Given the description of an element on the screen output the (x, y) to click on. 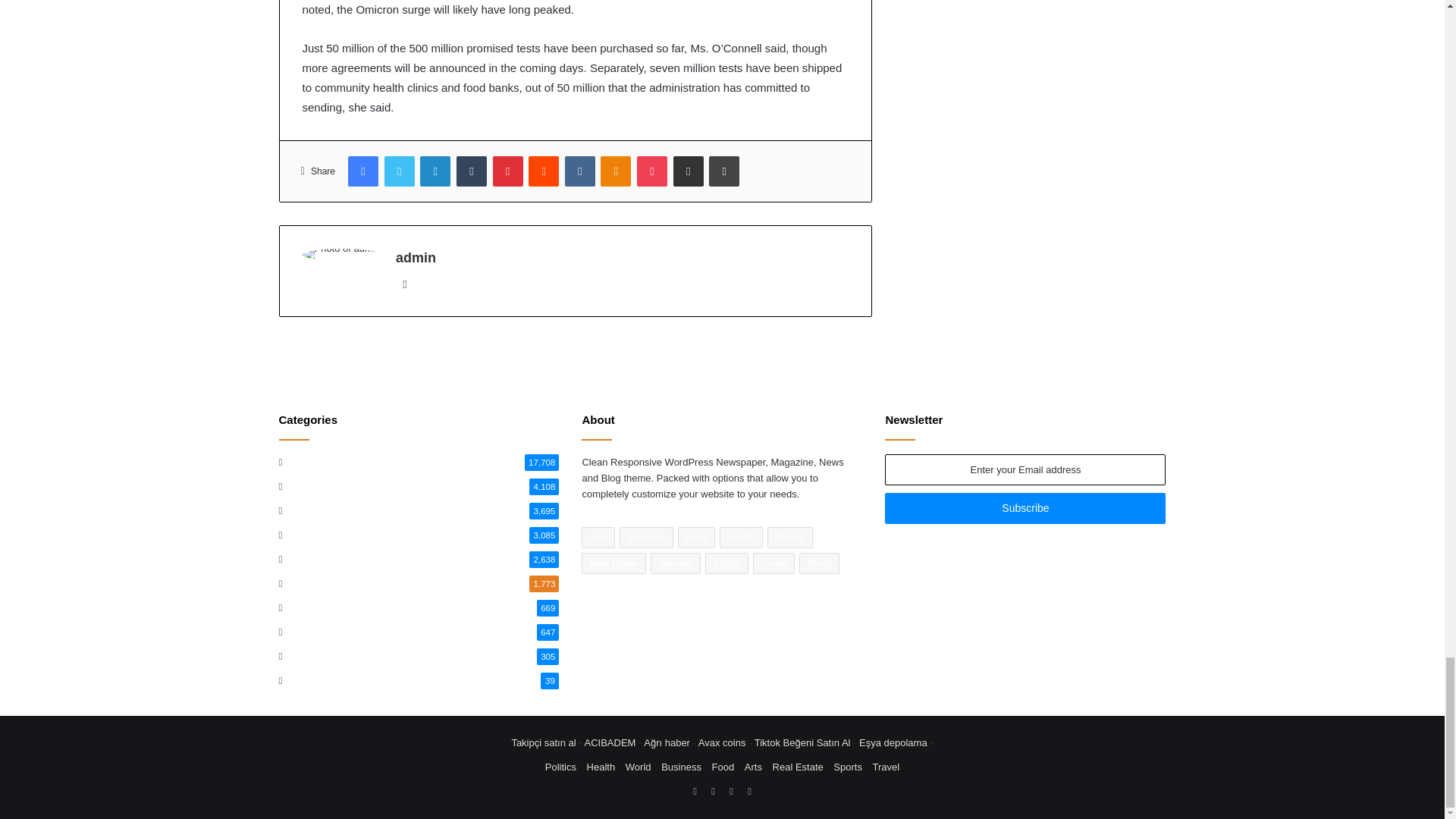
Subscribe (1025, 508)
